Given the description of an element on the screen output the (x, y) to click on. 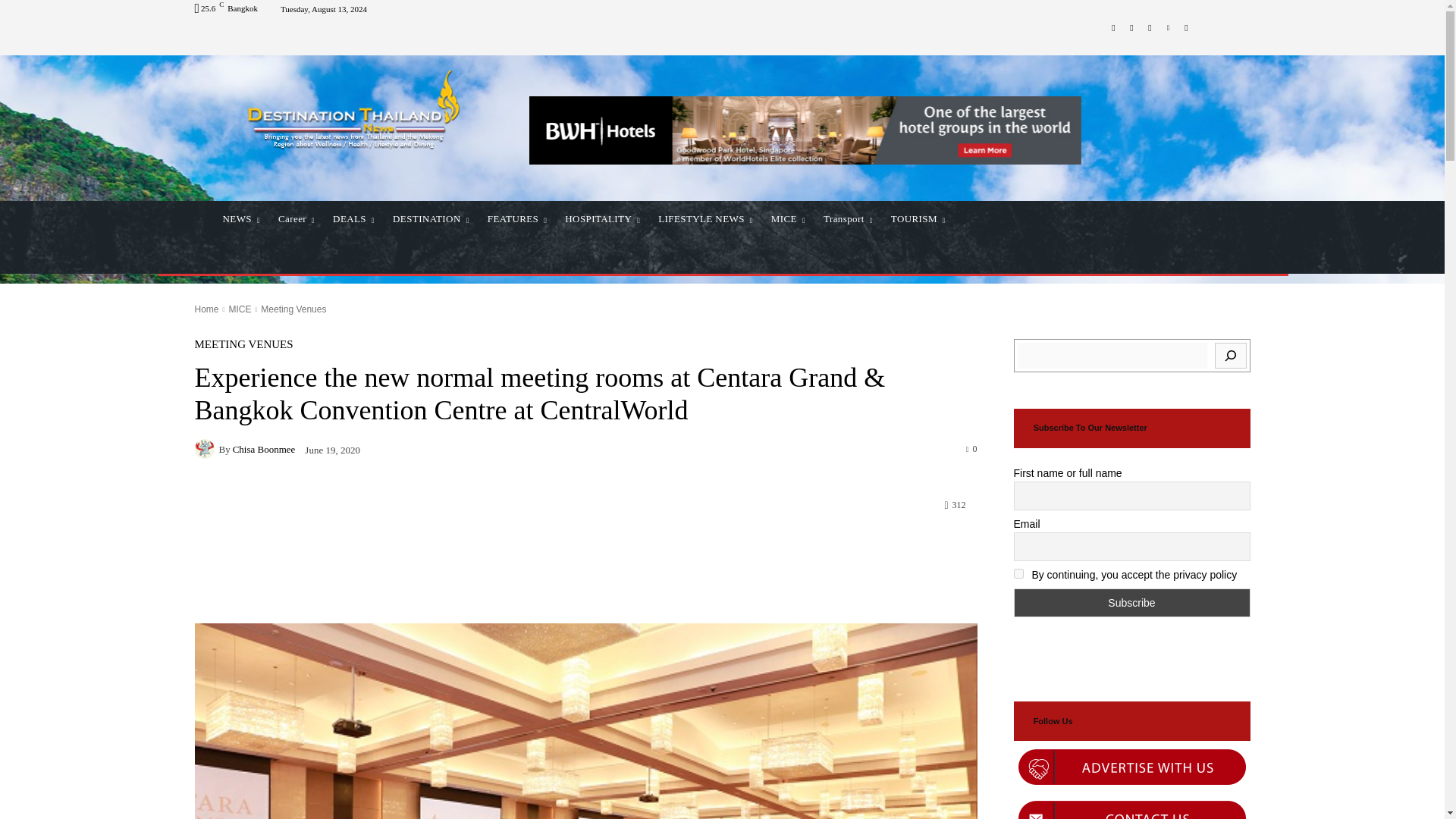
View all posts in Meeting Venues (293, 308)
on (1018, 573)
Vimeo (1167, 27)
Instagram (1131, 27)
View all posts in MICE (239, 308)
Subscribe (1131, 602)
Facebook (1112, 27)
Youtube (1185, 27)
Chisa Boonmee (205, 448)
Twitter (1149, 27)
